Given the description of an element on the screen output the (x, y) to click on. 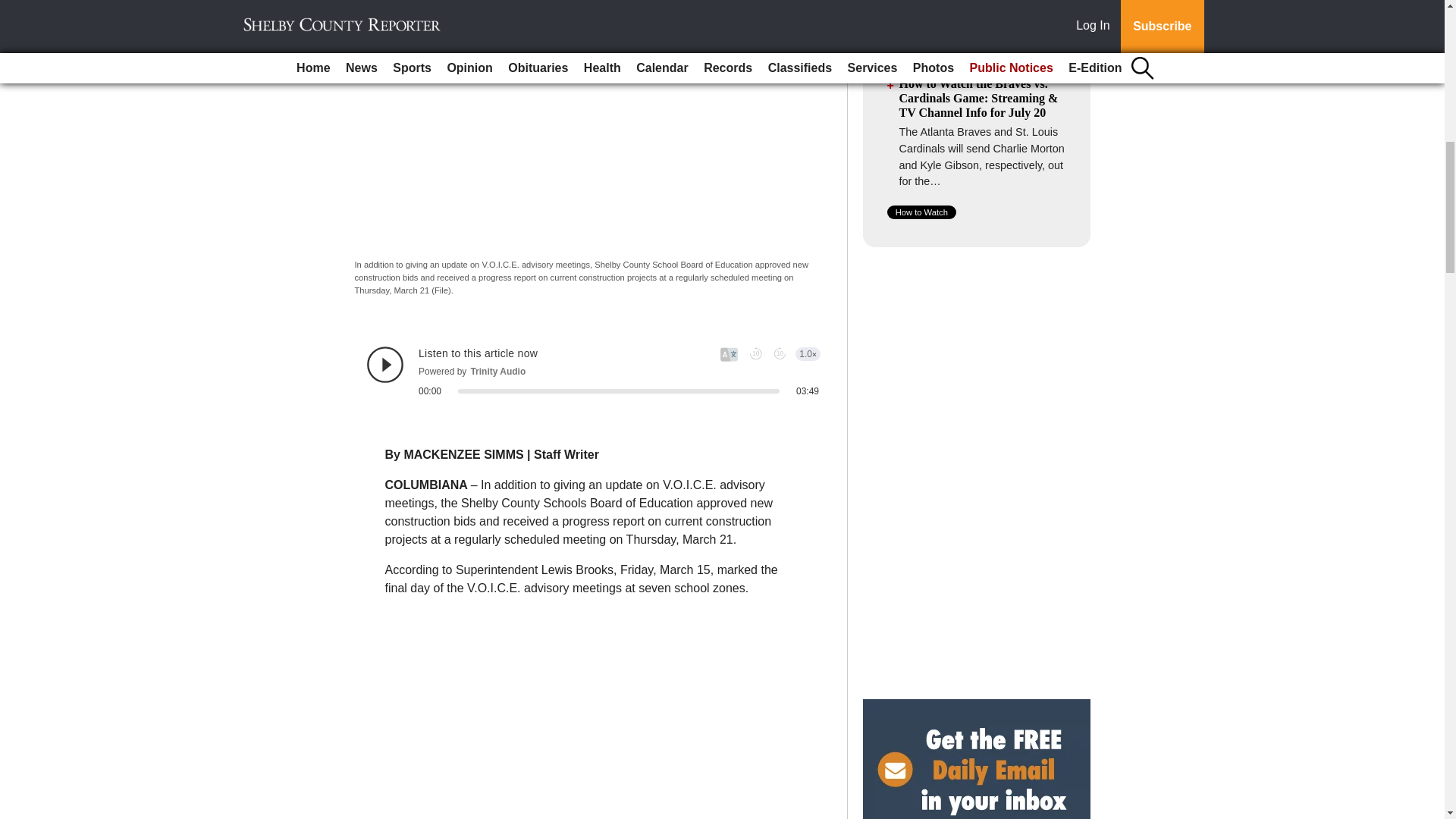
Trinity Audio Player (592, 371)
